Given the description of an element on the screen output the (x, y) to click on. 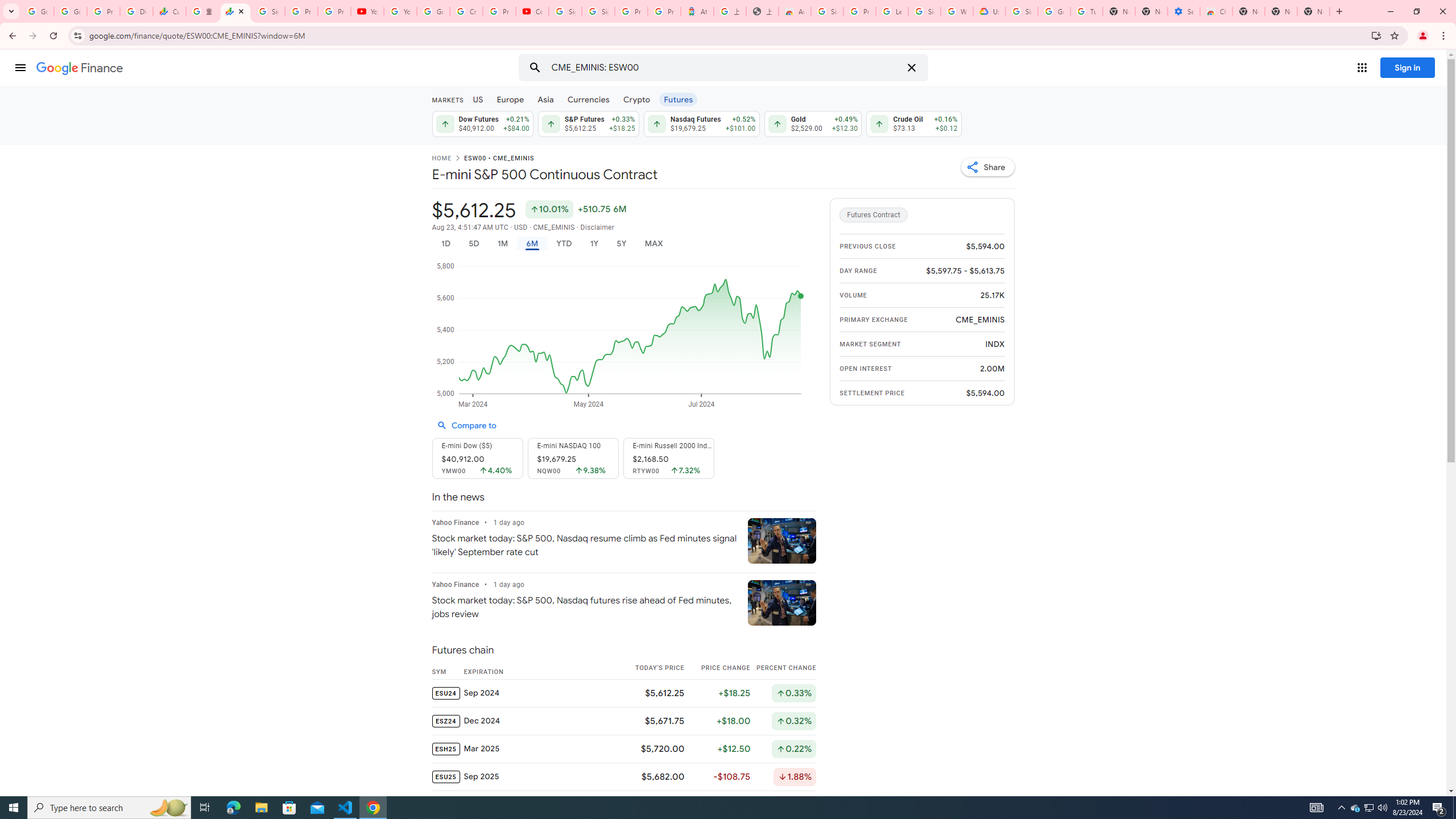
Google Workspace Admin Community (37, 11)
